Given the description of an element on the screen output the (x, y) to click on. 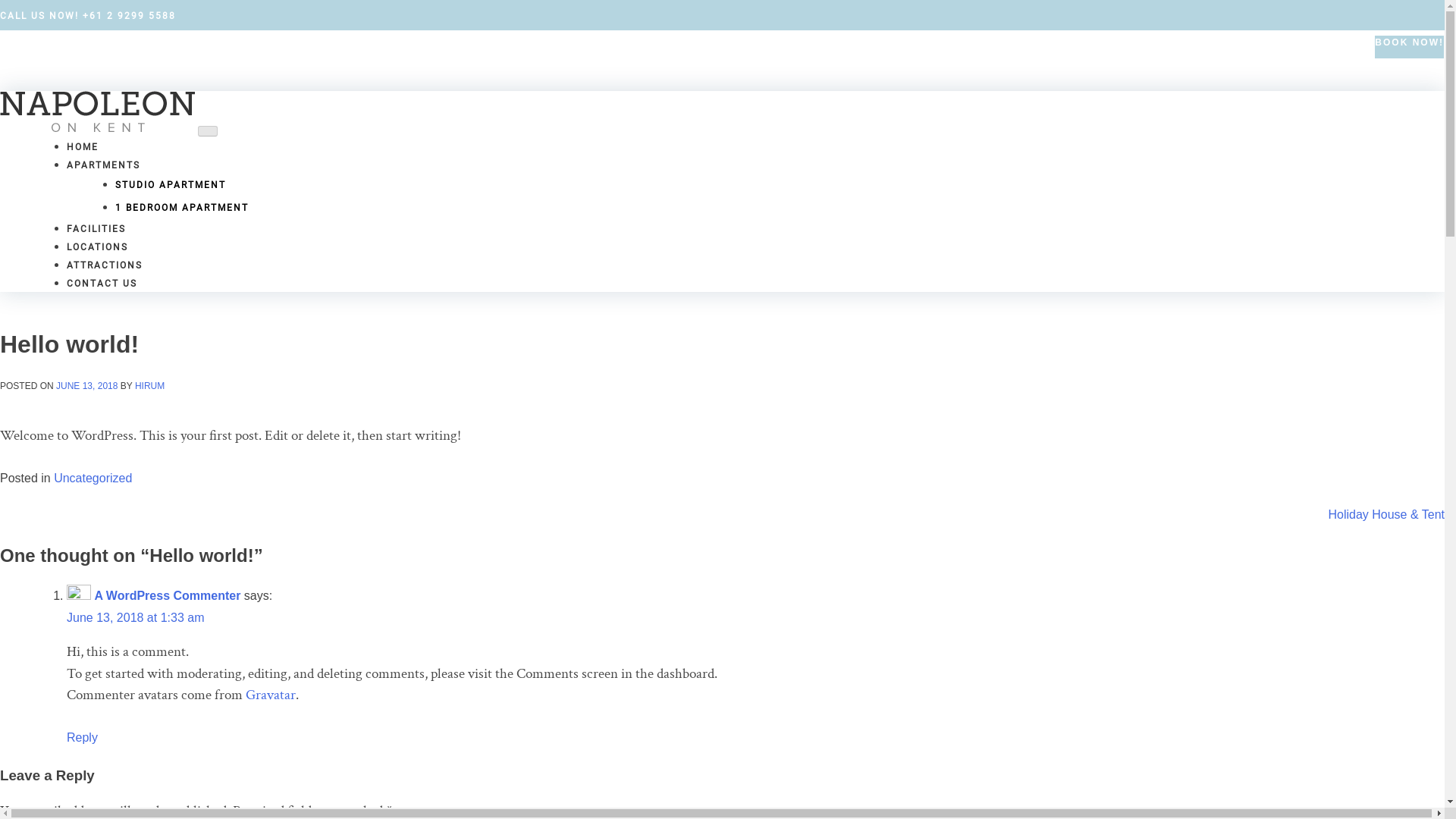
APARTMENTS Element type: text (103, 165)
HOME Element type: text (82, 146)
A WordPress Commenter Element type: text (167, 595)
FACILITIES Element type: text (95, 228)
June 13, 2018 at 1:33 am Element type: text (134, 617)
CONTACT US Element type: text (101, 283)
STUDIO APARTMENT Element type: text (170, 184)
LOCATIONS Element type: text (97, 246)
BOOK NOW! Element type: text (1409, 46)
Uncategorized Element type: text (92, 477)
Gravatar Element type: text (270, 694)
1 BEDROOM APARTMENT Element type: text (181, 207)
HIRUM Element type: text (149, 385)
ATTRACTIONS Element type: text (104, 265)
Reply Element type: text (81, 737)
Holiday House & Tent Element type: text (1385, 514)
JUNE 13, 2018 Element type: text (86, 385)
CALL US NOW! +61 2 9299 5588 Element type: text (87, 15)
